Given the description of an element on the screen output the (x, y) to click on. 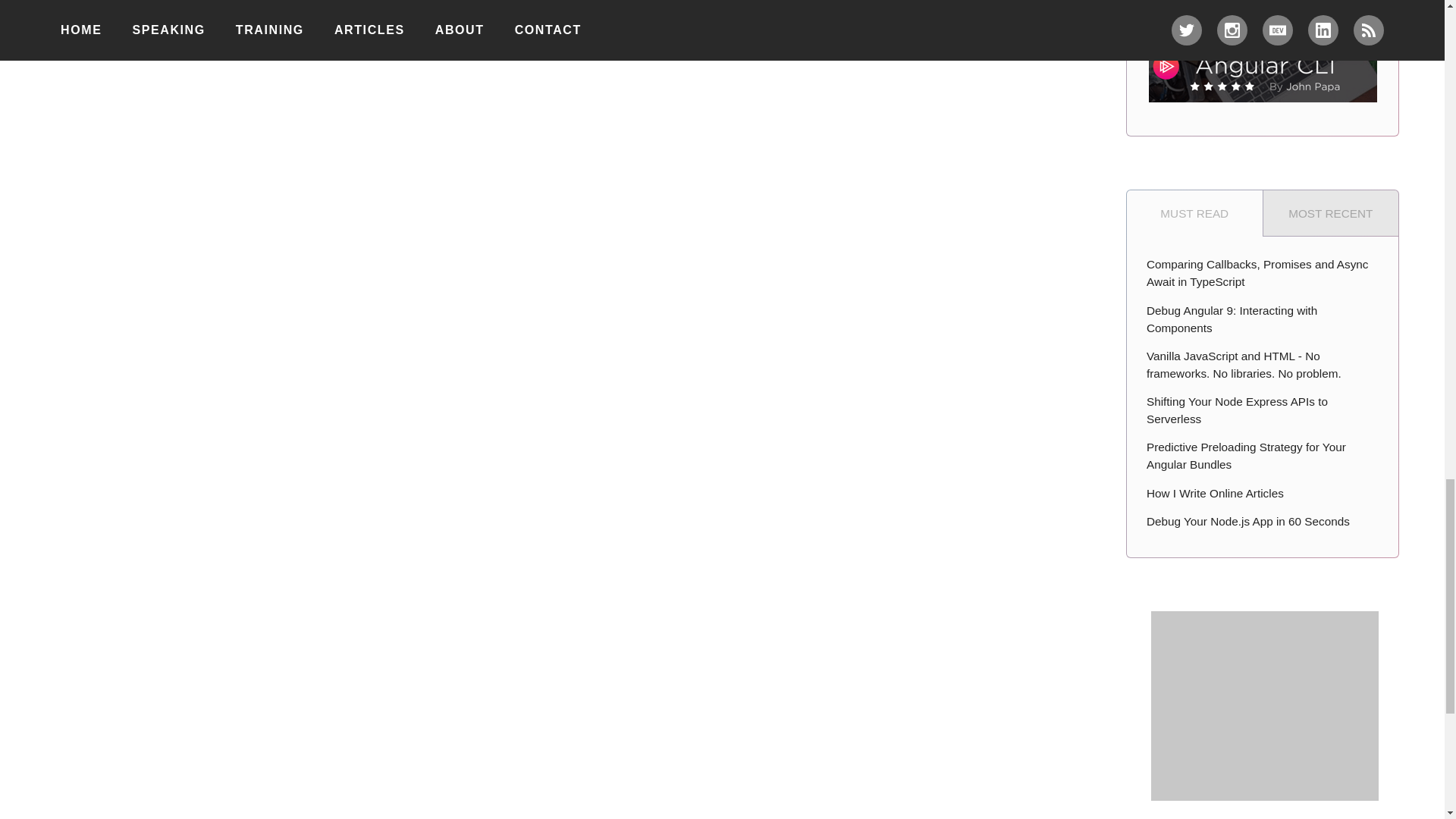
Comparing Callbacks, Promises and Async Await in TypeScript (1262, 273)
MUST READ (1194, 212)
Debug Angular 9: Interacting with Components (1262, 319)
MOST RECENT (1331, 212)
